Given the description of an element on the screen output the (x, y) to click on. 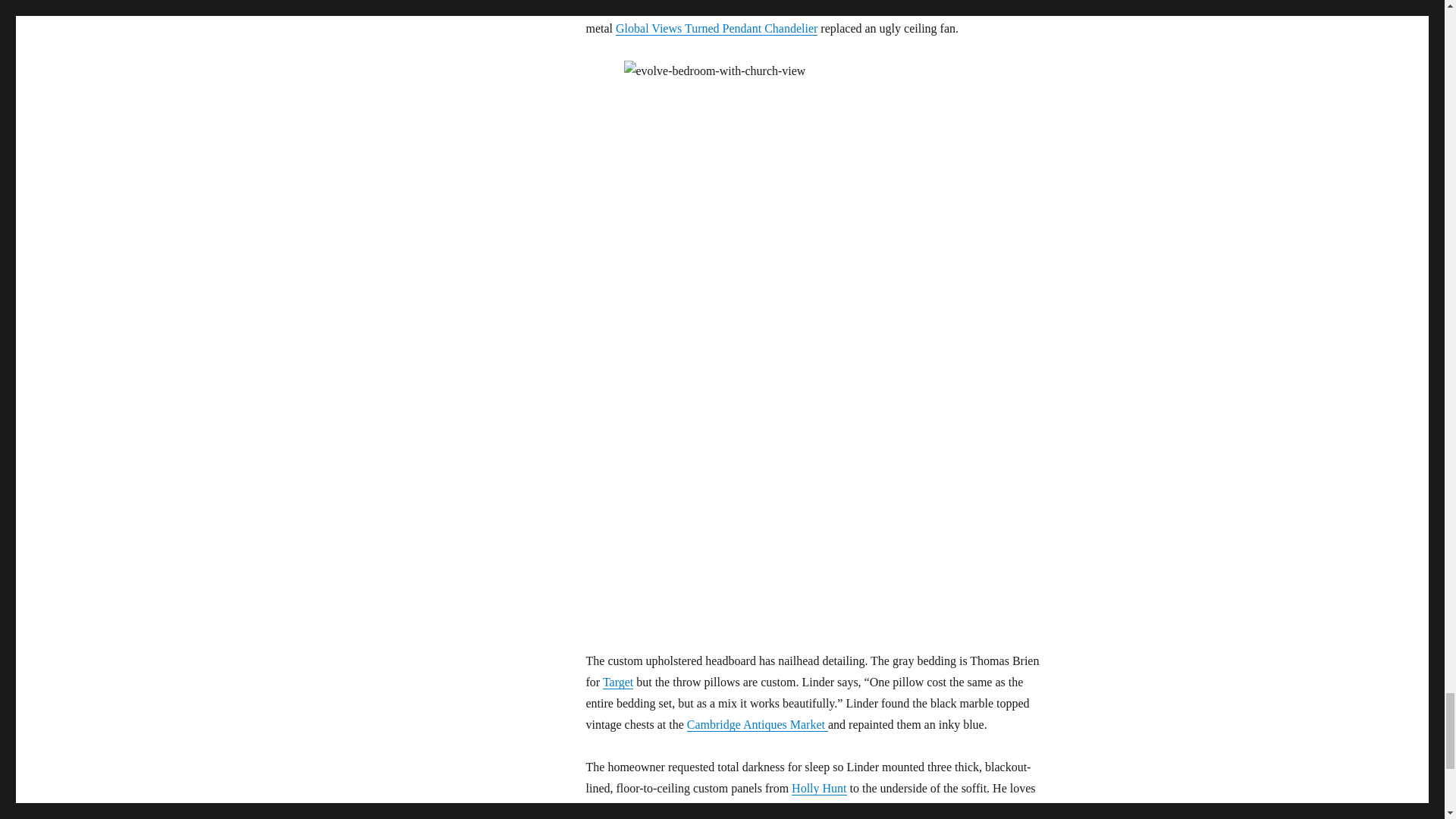
Target (617, 681)
Cambridge Antiques Market (757, 724)
Global Views Turned Pendant Chandelier (715, 28)
Holly Hunt (818, 788)
